Given the description of an element on the screen output the (x, y) to click on. 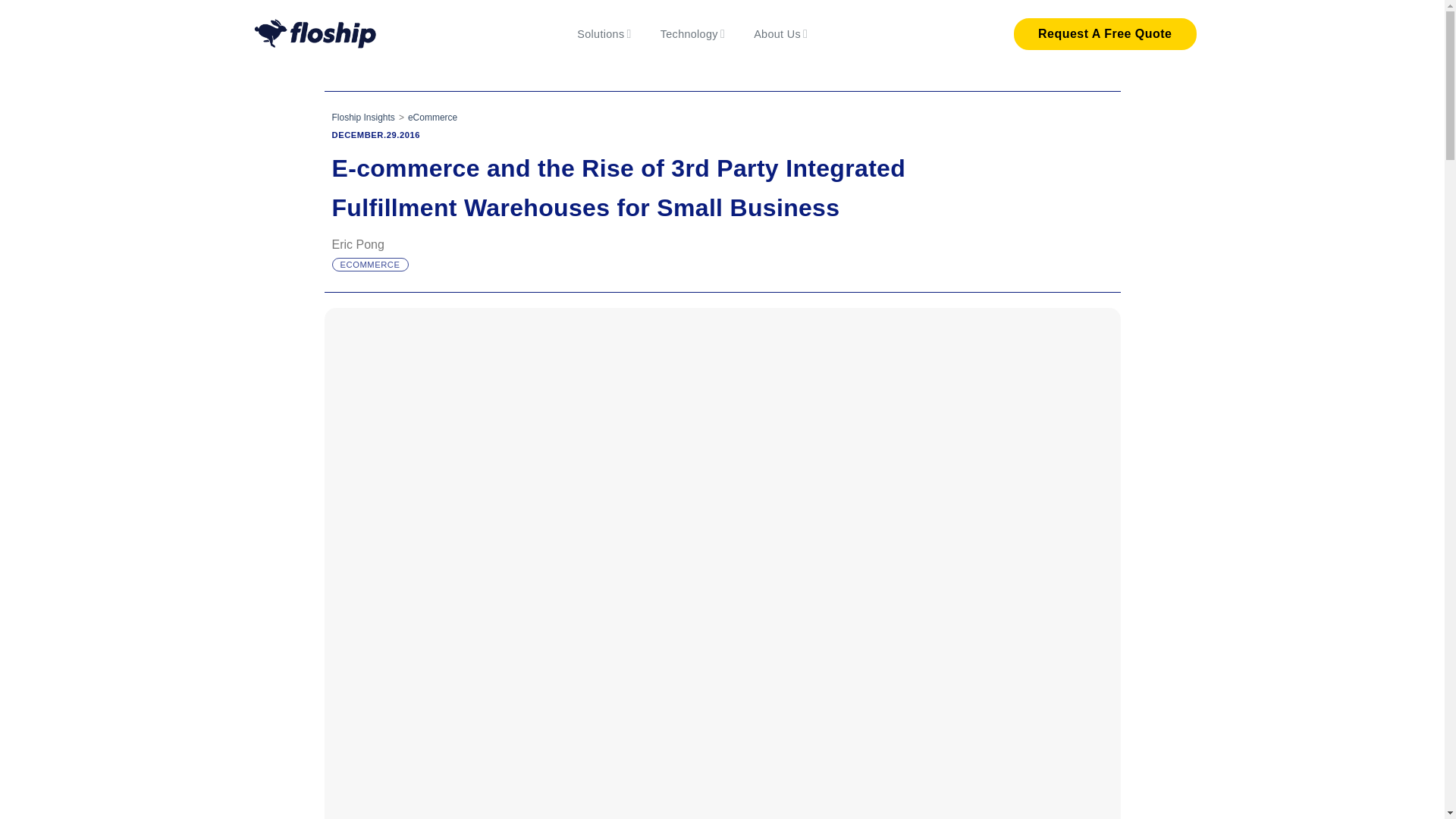
eCommerce (432, 117)
Solutions (603, 33)
Floship - Global eCommerce Fulfillment (314, 34)
About Us (781, 33)
Floship Insights (362, 117)
ECOMMERCE (368, 264)
Technology (693, 33)
Request A Free Quote (1104, 33)
